Given the description of an element on the screen output the (x, y) to click on. 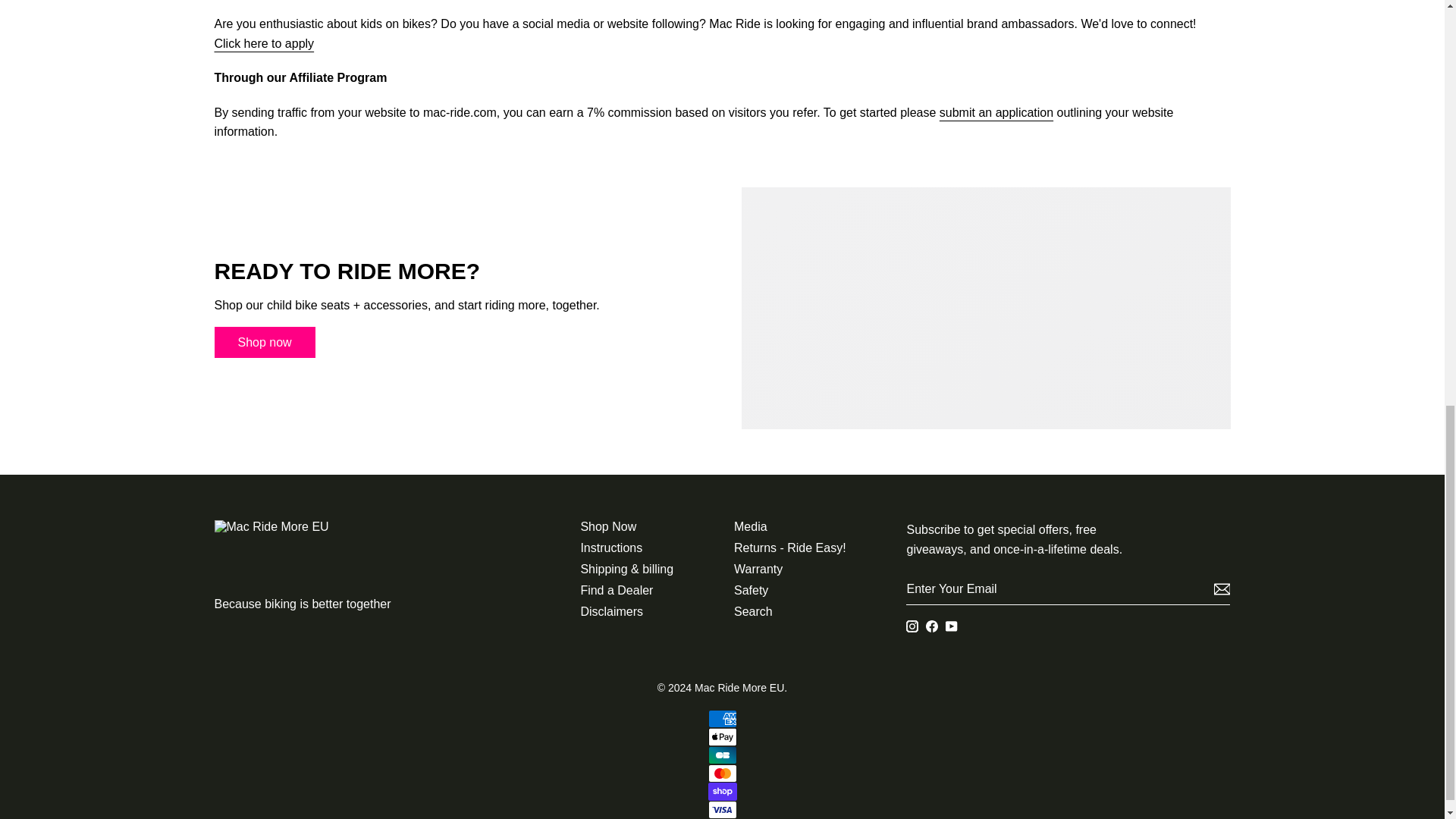
Brand Ambassador Application (264, 44)
Affiliate Application (995, 112)
